Given the description of an element on the screen output the (x, y) to click on. 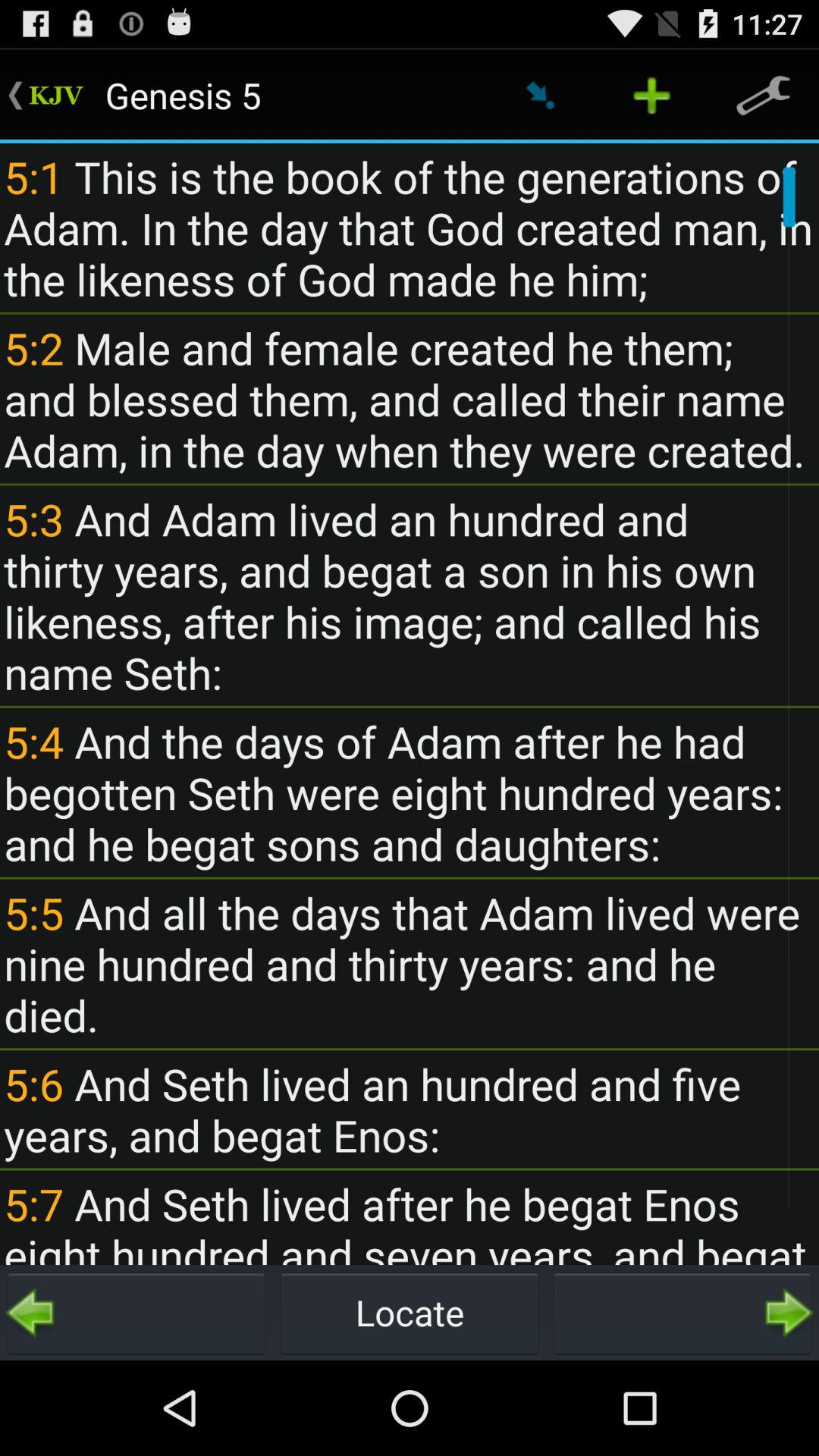
click second icon which is at the top right of the page (651, 95)
click on the locate option (409, 1312)
